Given the description of an element on the screen output the (x, y) to click on. 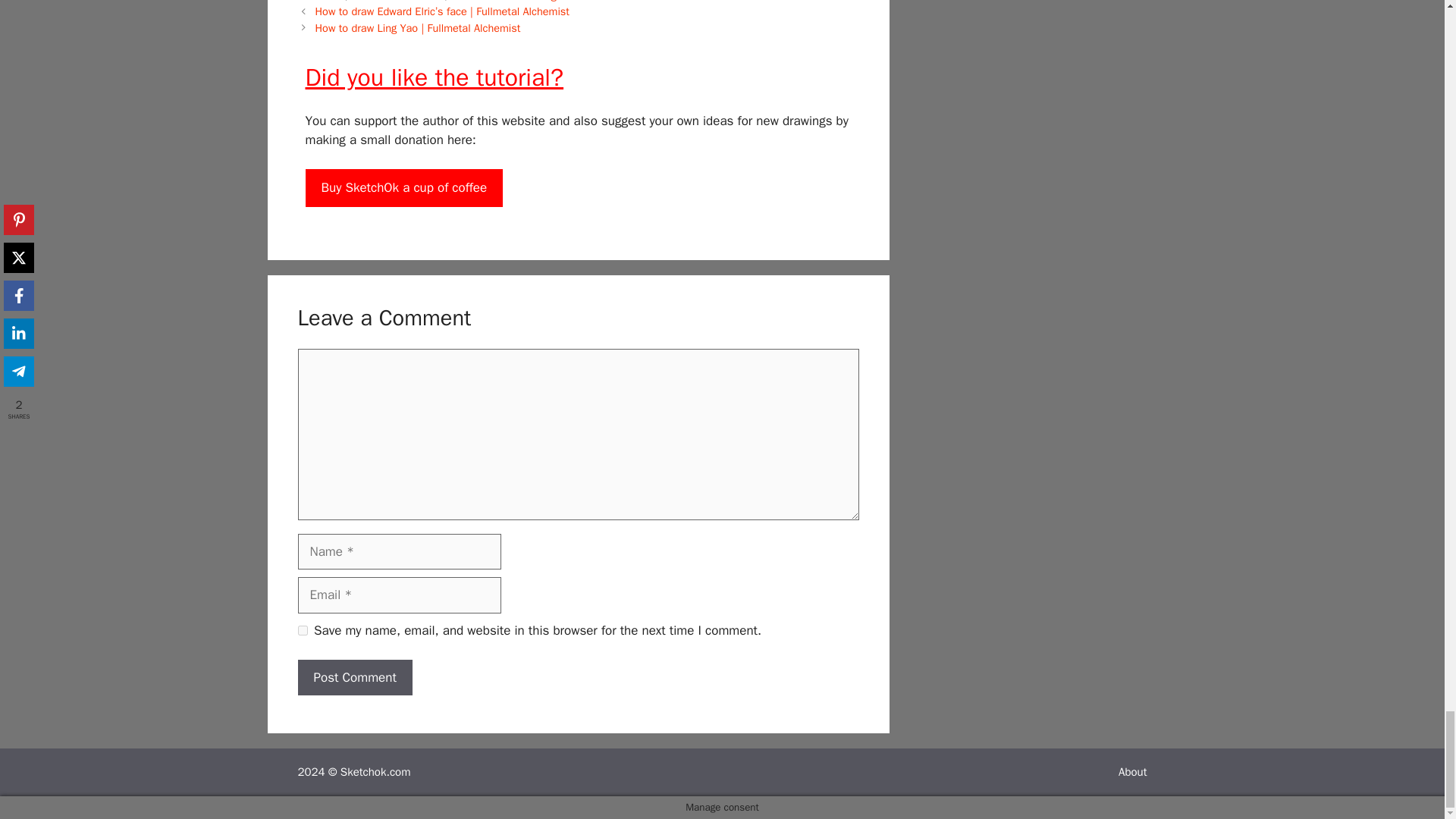
yes (302, 630)
Post Comment (354, 678)
